Given the description of an element on the screen output the (x, y) to click on. 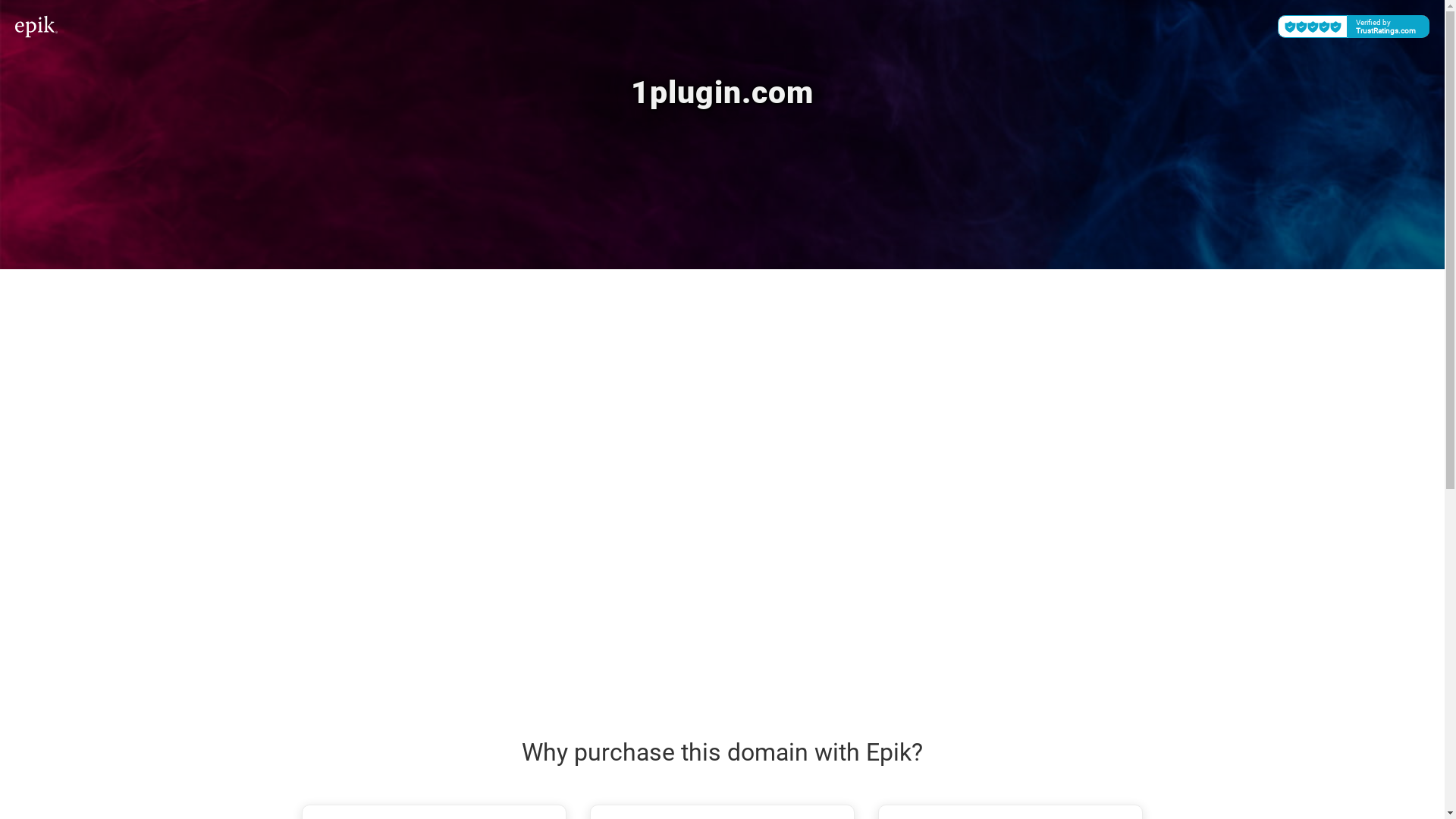
Verified by TrustRatings.com Element type: hover (1353, 26)
